Given the description of an element on the screen output the (x, y) to click on. 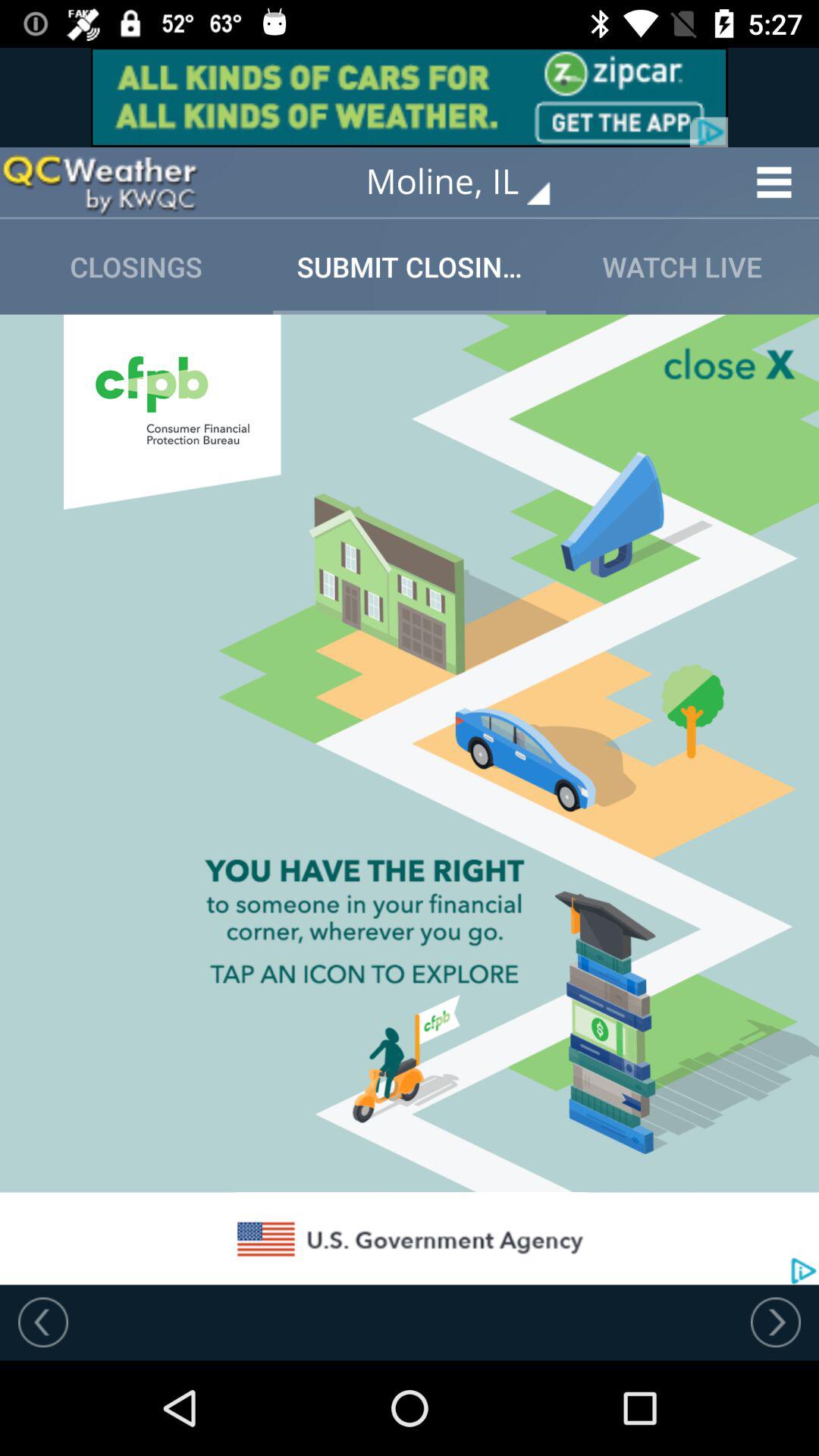
go back (43, 1322)
